Given the description of an element on the screen output the (x, y) to click on. 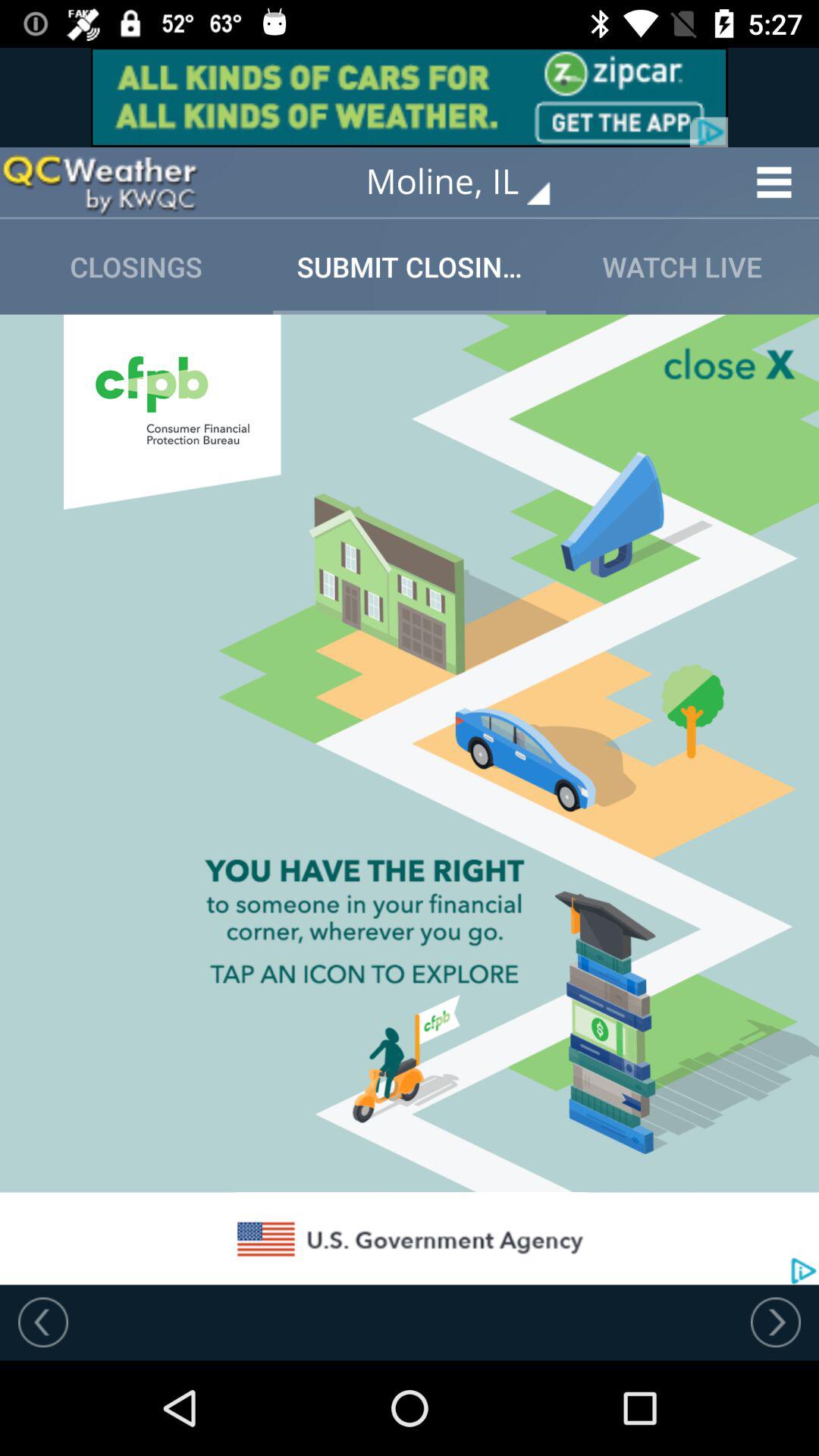
go back (43, 1322)
